Given the description of an element on the screen output the (x, y) to click on. 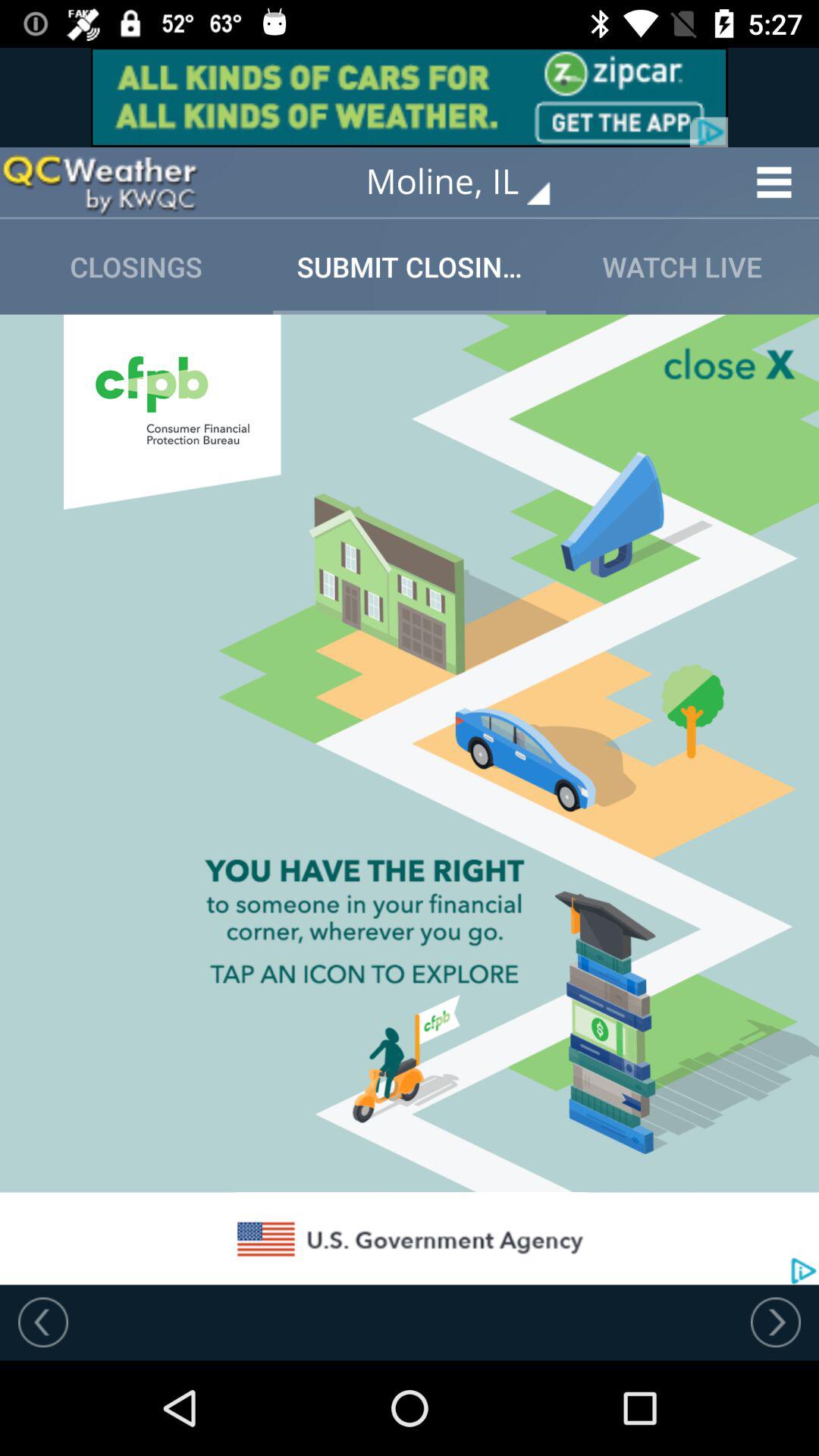
go back (43, 1322)
